Given the description of an element on the screen output the (x, y) to click on. 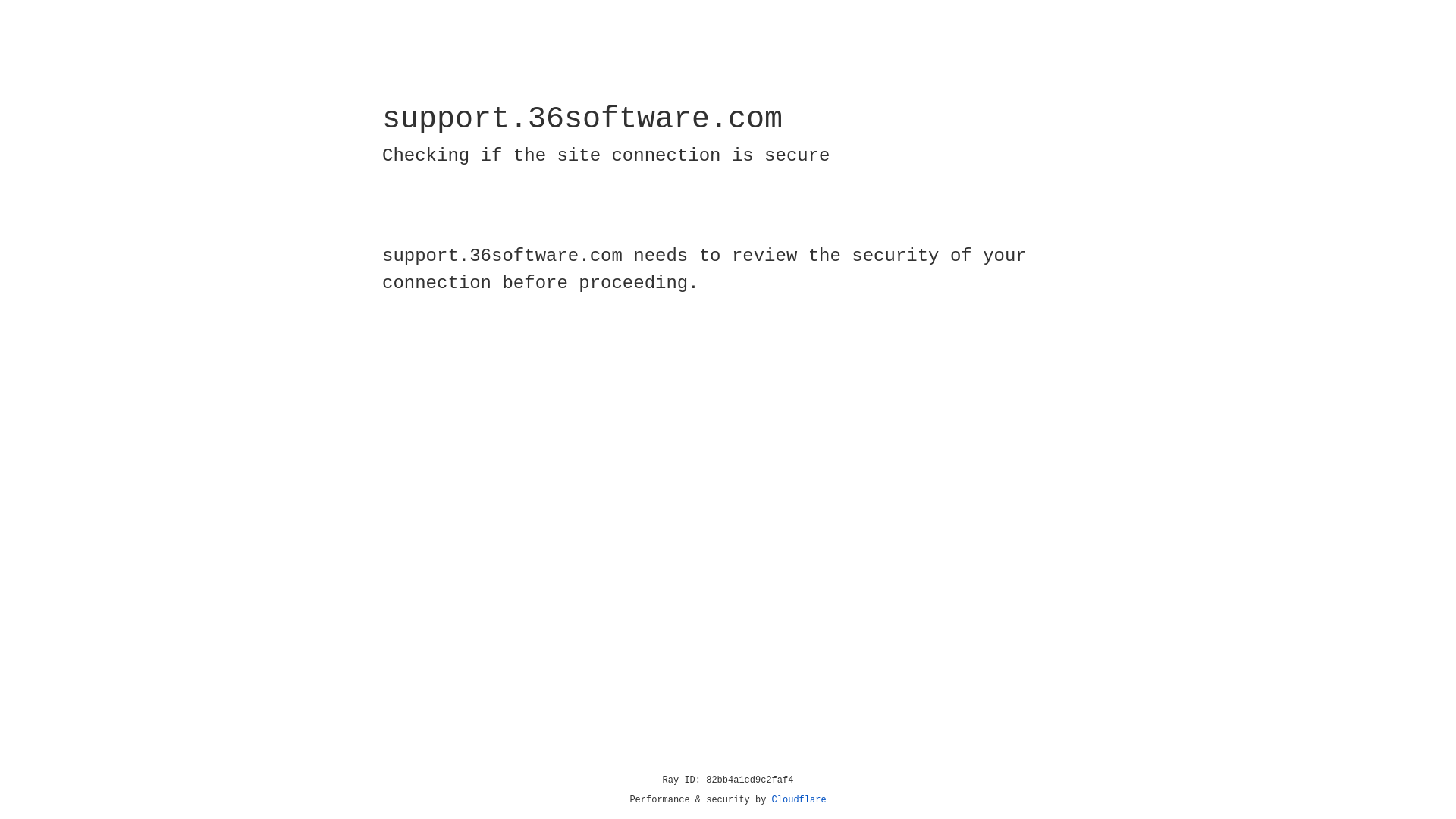
Cloudflare Element type: text (798, 799)
